Given the description of an element on the screen output the (x, y) to click on. 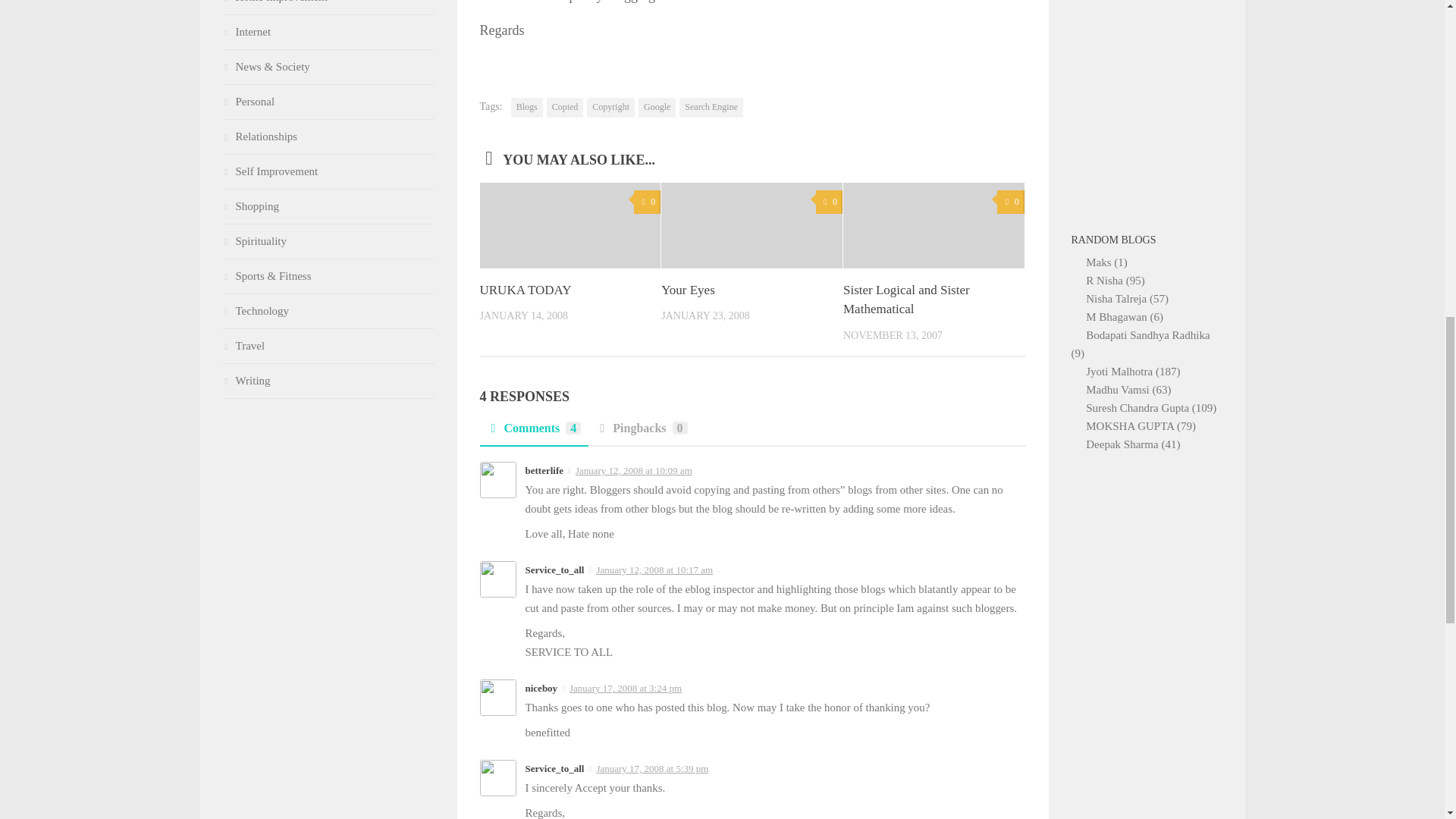
0 (1010, 201)
0 (829, 201)
Blogs (527, 107)
January 17, 2008 at 5:39 pm (651, 767)
Comments4 (533, 432)
URUKA TODAY (524, 289)
Pingbacks0 (641, 432)
January 12, 2008 at 10:17 am (654, 569)
January 12, 2008 at 10:09 am (634, 470)
Search Engine (710, 107)
